Given the description of an element on the screen output the (x, y) to click on. 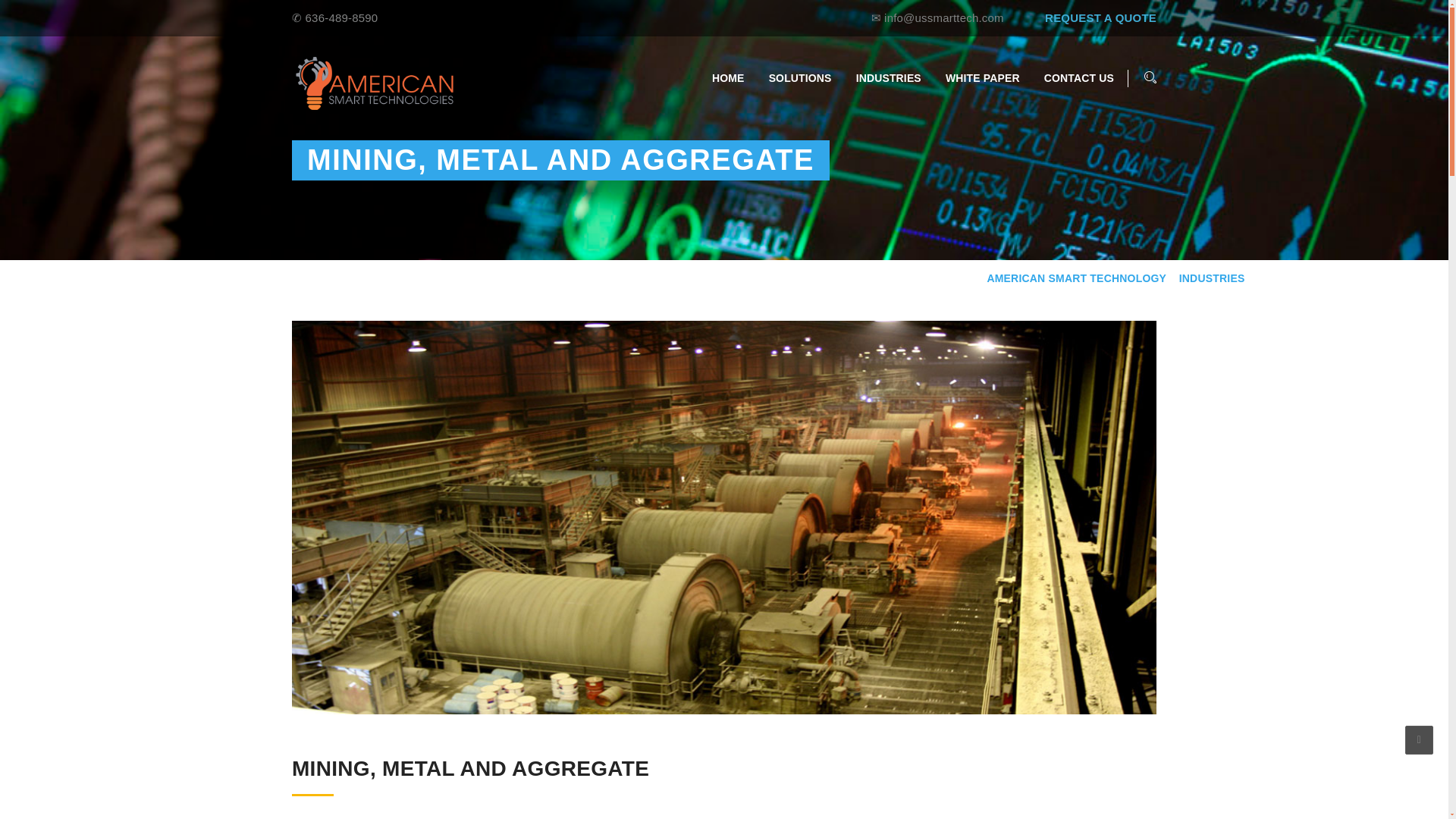
REQUEST A QUOTE (1100, 17)
SOLUTIONS (800, 77)
INDUSTRIES (888, 77)
Go to Industries. (1211, 278)
CONTACT US (1078, 77)
Go to AMERICAN SMART TECHNOLOGY. (1076, 278)
WHITE PAPER (982, 77)
AMERICAN SMART TECHNOLOGY (374, 83)
INDUSTRIES (1211, 278)
AMERICAN SMART TECHNOLOGY (1076, 278)
